Given the description of an element on the screen output the (x, y) to click on. 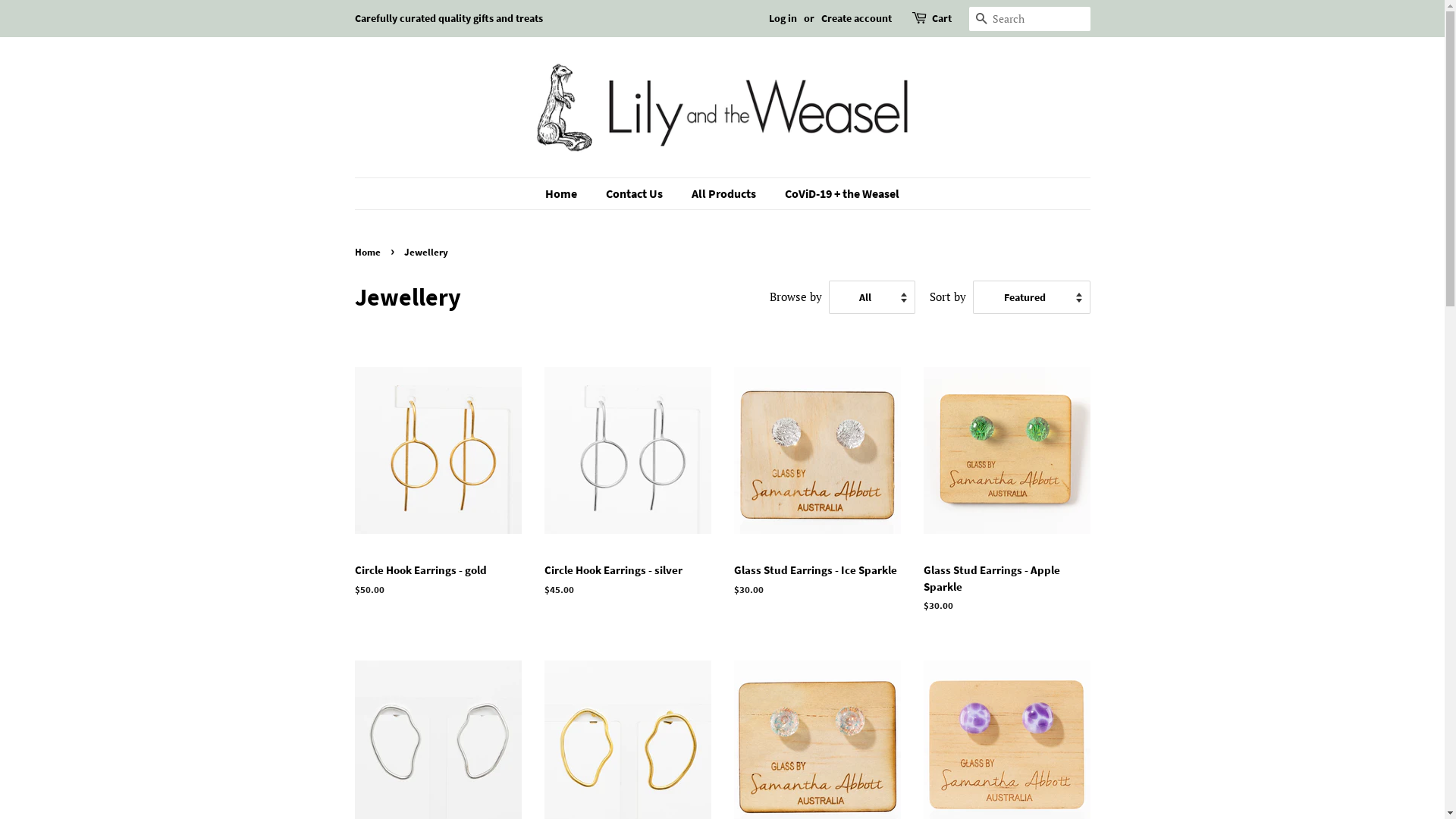
Search Element type: text (981, 18)
Glass Stud Earrings - Ice Sparkle
Regular price
$30.00 Element type: text (817, 484)
All Products Element type: text (725, 193)
Cart Element type: text (940, 18)
Contact Us Element type: text (635, 193)
Create account Element type: text (855, 18)
Home Element type: text (568, 193)
Glass Stud Earrings - Apple Sparkle
Regular price
$30.00 Element type: text (1006, 492)
Circle Hook Earrings - gold
Regular price
$50.00 Element type: text (437, 484)
CoViD-19 + the Weasel Element type: text (836, 193)
Log in Element type: text (782, 18)
Home Element type: text (369, 251)
Circle Hook Earrings - silver
Regular price
$45.00 Element type: text (627, 484)
